Given the description of an element on the screen output the (x, y) to click on. 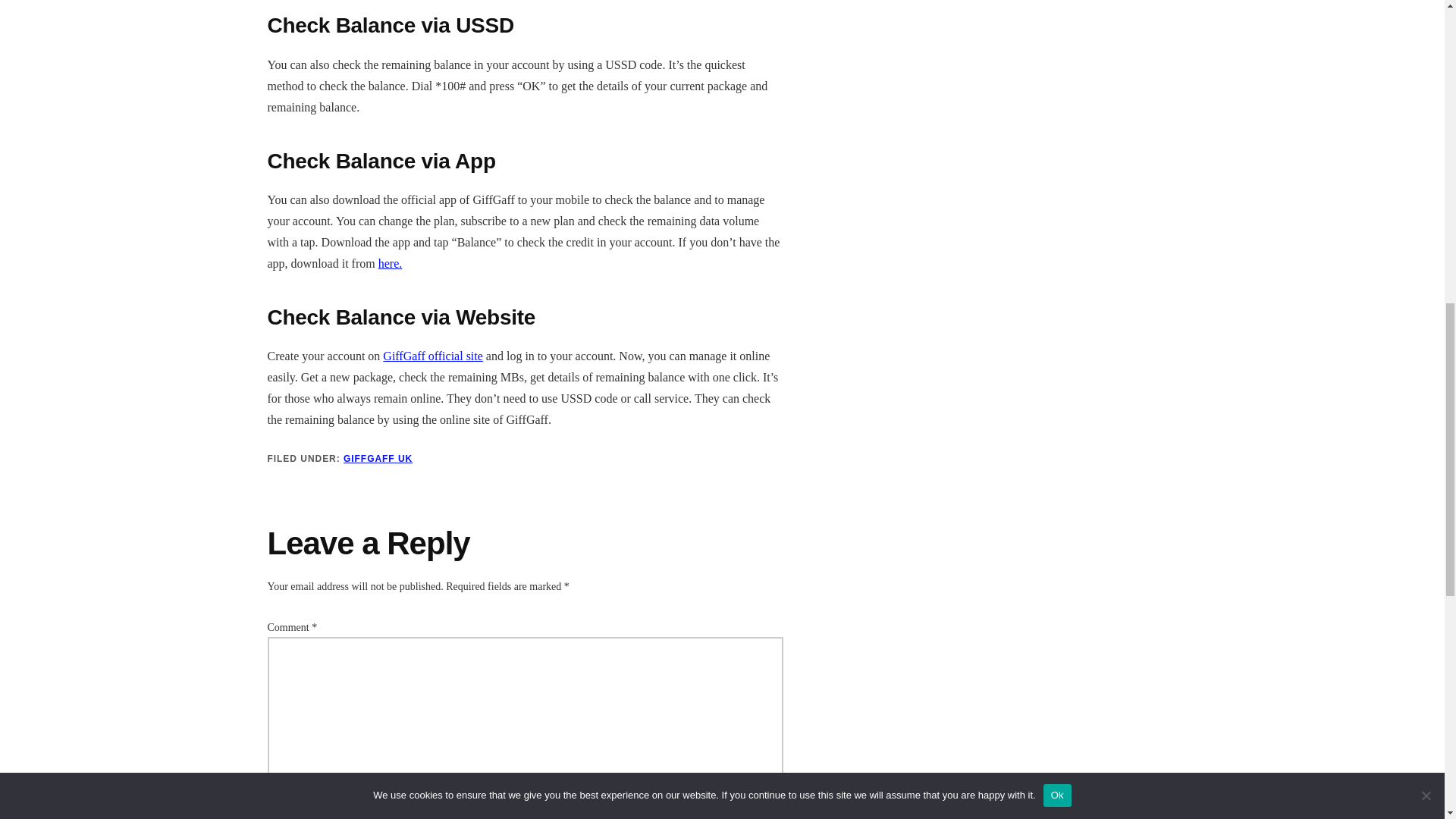
here. (390, 263)
GiffGaff official site (432, 355)
GIFFGAFF UK (377, 458)
